Given the description of an element on the screen output the (x, y) to click on. 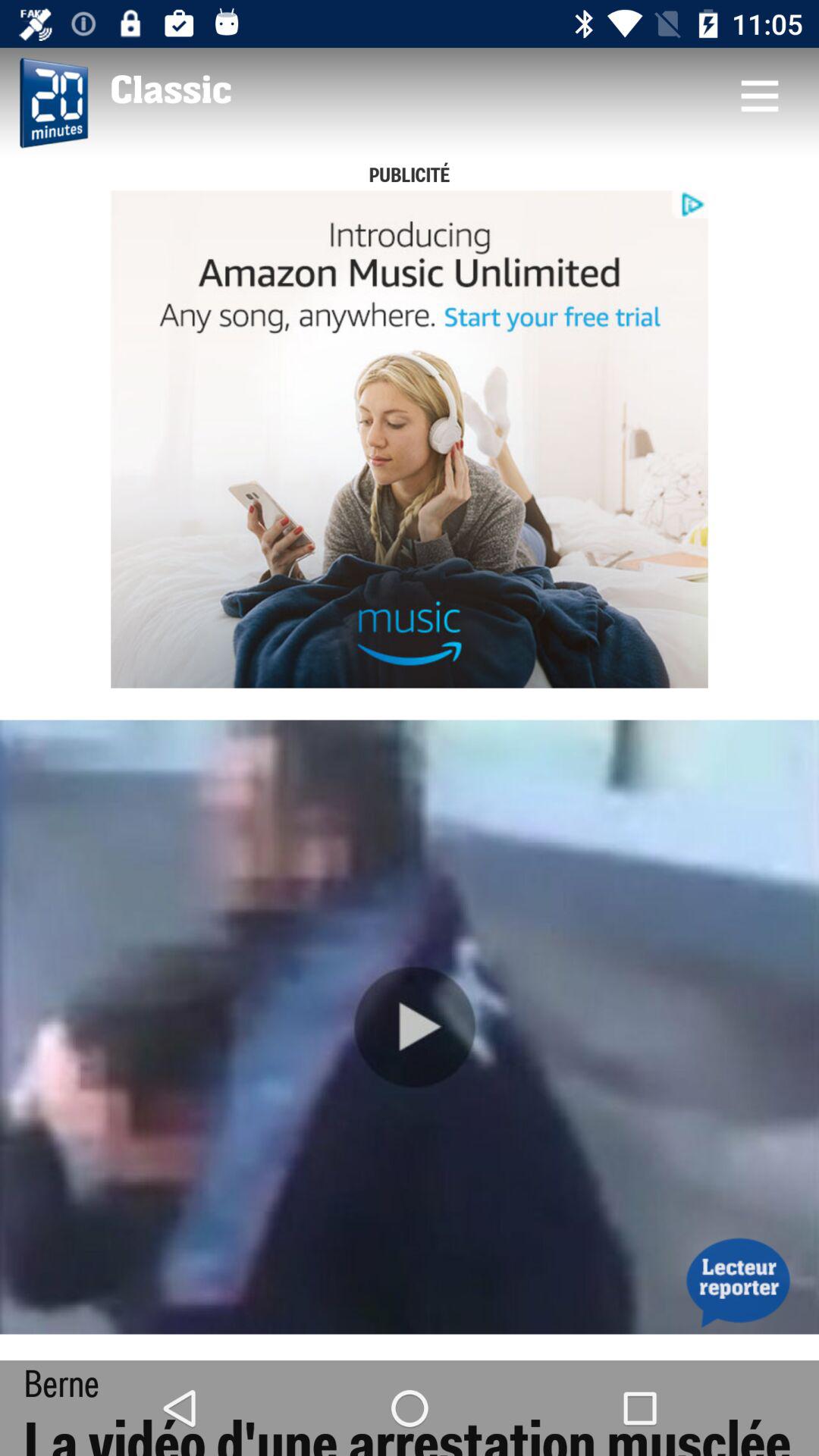
menu icon (759, 95)
